Given the description of an element on the screen output the (x, y) to click on. 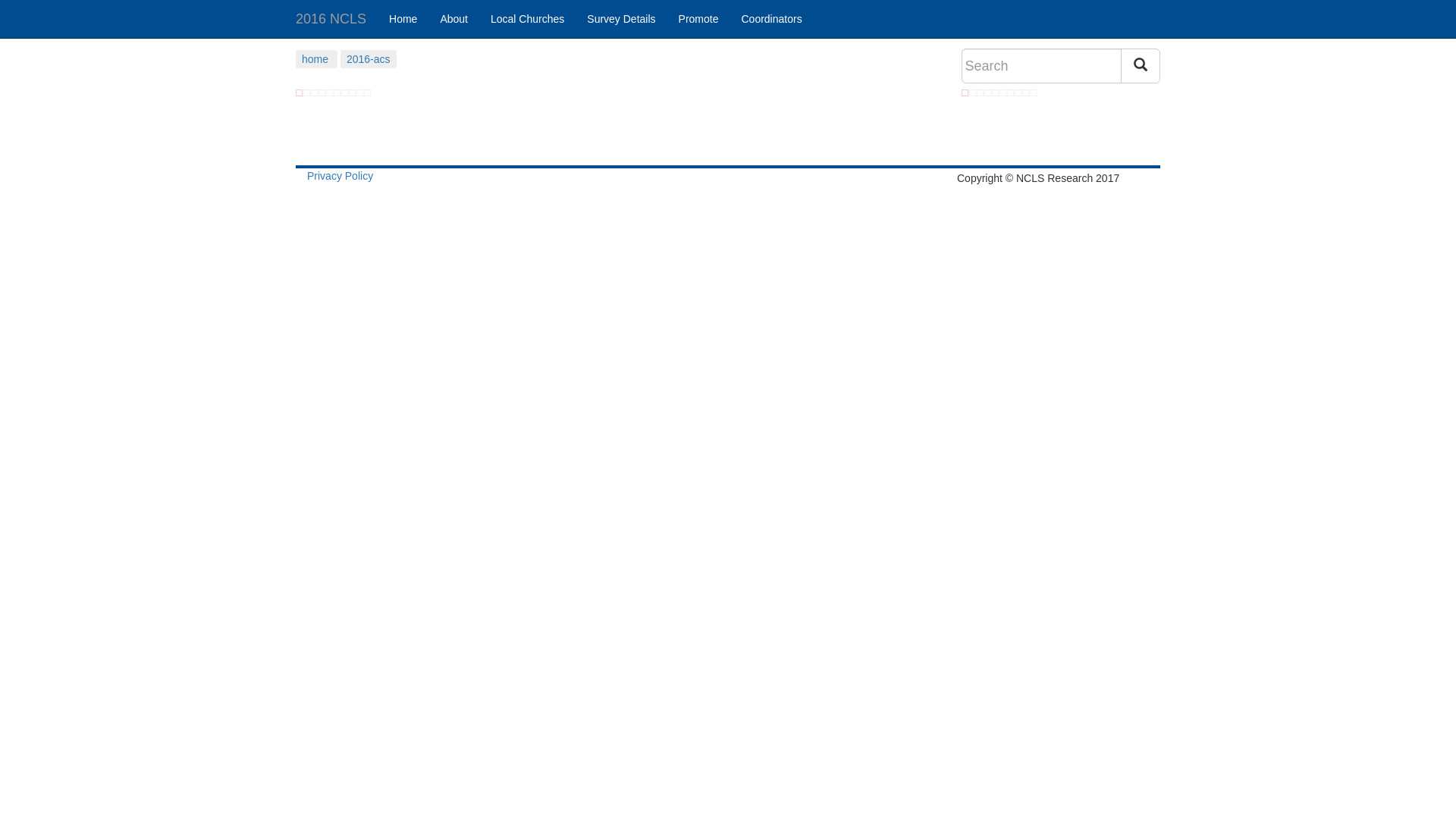
2016 NCLS Element type: text (330, 18)
2016-acs Element type: text (368, 59)
Home Element type: text (402, 18)
Coordinators Element type: text (770, 18)
About Element type: text (453, 18)
Privacy Policy Element type: text (340, 175)
home Element type: text (314, 59)
Promote Element type: text (698, 18)
Survey Details Element type: text (620, 18)
Local Churches Element type: text (527, 18)
Go Element type: hover (1140, 65)
